Given the description of an element on the screen output the (x, y) to click on. 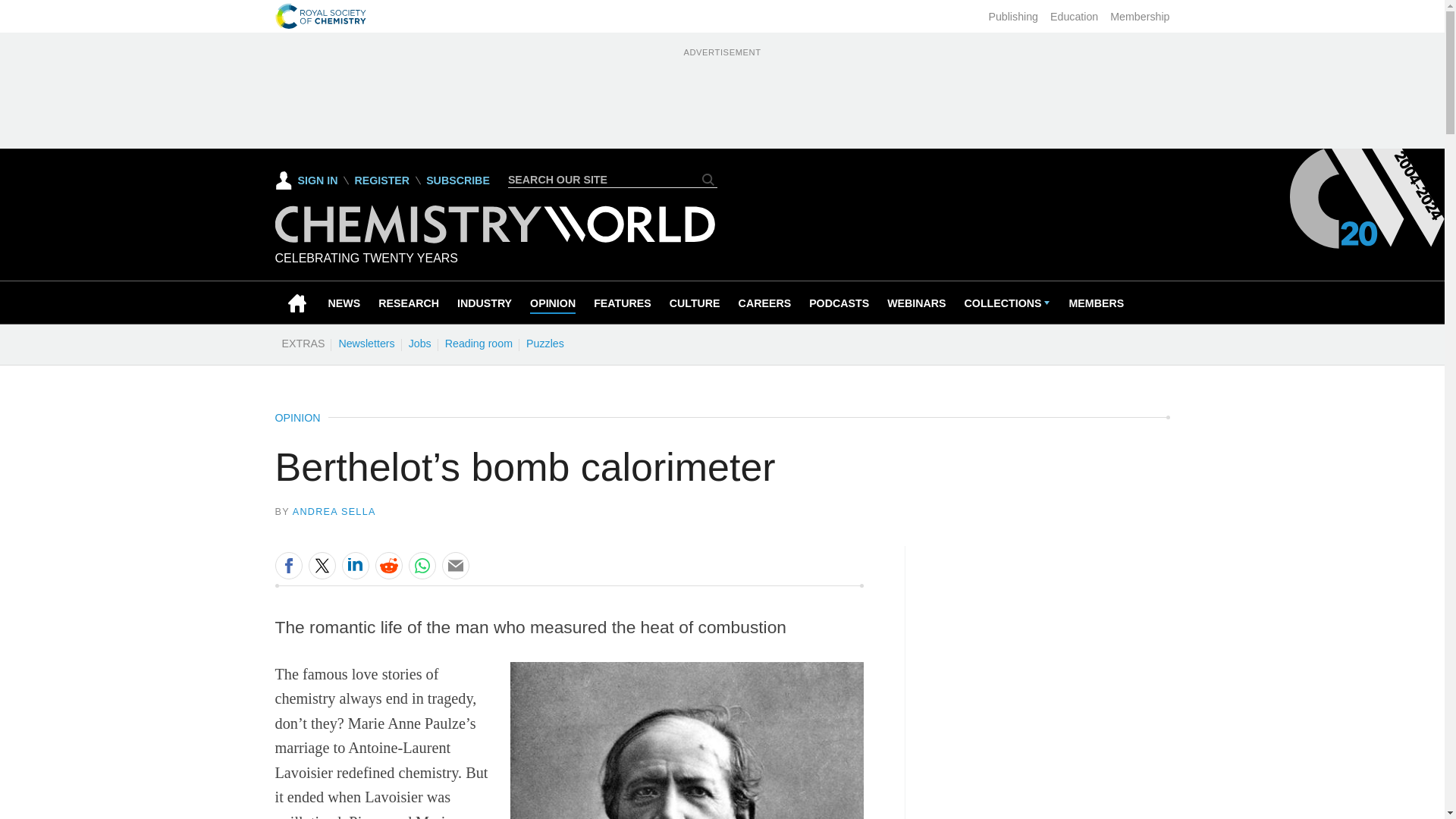
Chemistry World (494, 238)
SUBSCRIBE (457, 180)
Puzzles (544, 343)
SEARCH (708, 179)
Share this on Facebook (288, 565)
Share this by email (454, 565)
Jobs (419, 343)
Share this on LinkedIn (354, 565)
Publishing (1013, 16)
3rd party ad content (721, 94)
